Given the description of an element on the screen output the (x, y) to click on. 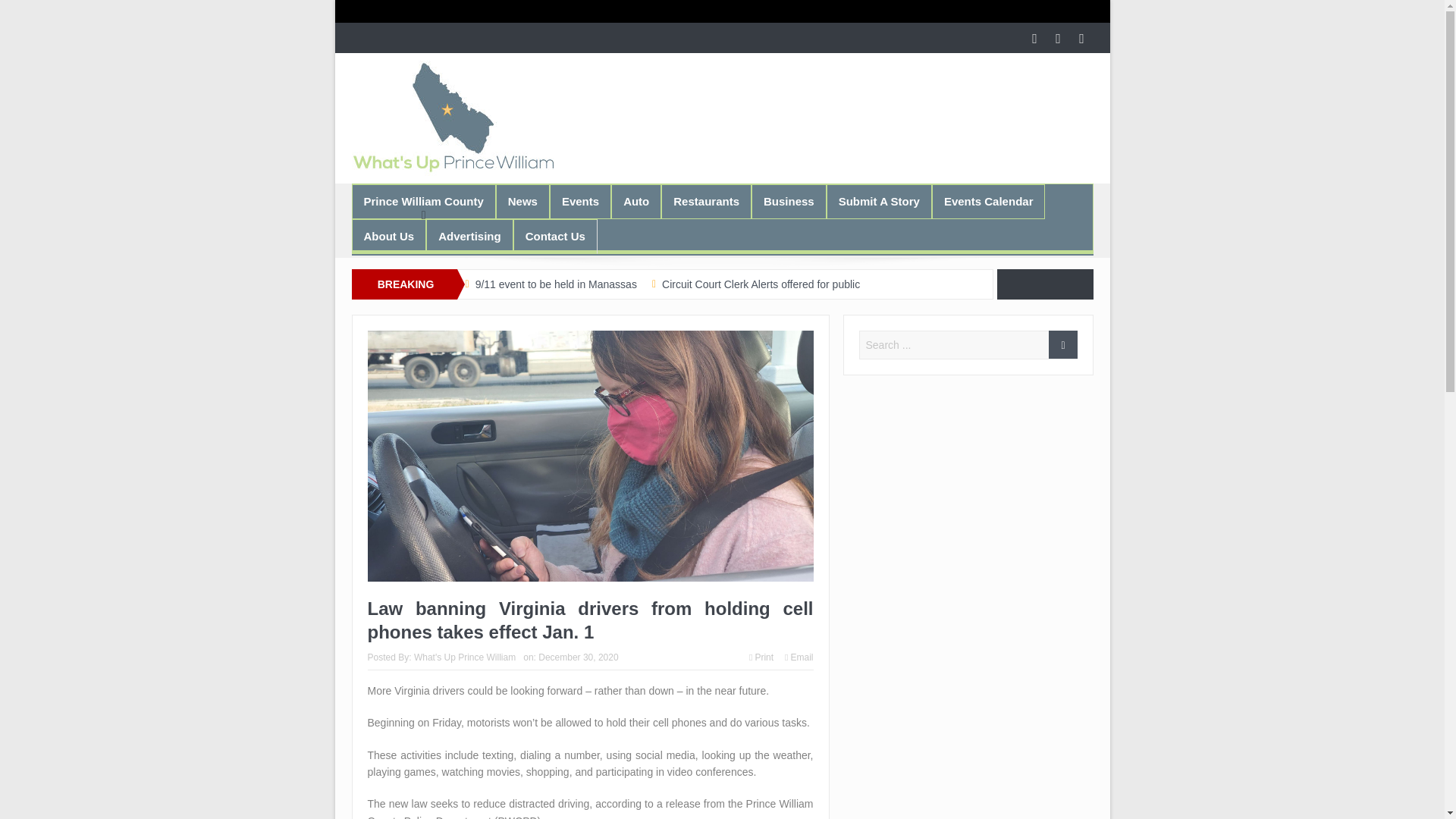
Prince William County (423, 201)
Events Calendar (989, 201)
Business (788, 201)
Submit A Story (879, 201)
Auto (636, 201)
Advertising (469, 236)
Events (580, 201)
News (522, 201)
About Us (388, 236)
Contact Us (554, 236)
